Given the description of an element on the screen output the (x, y) to click on. 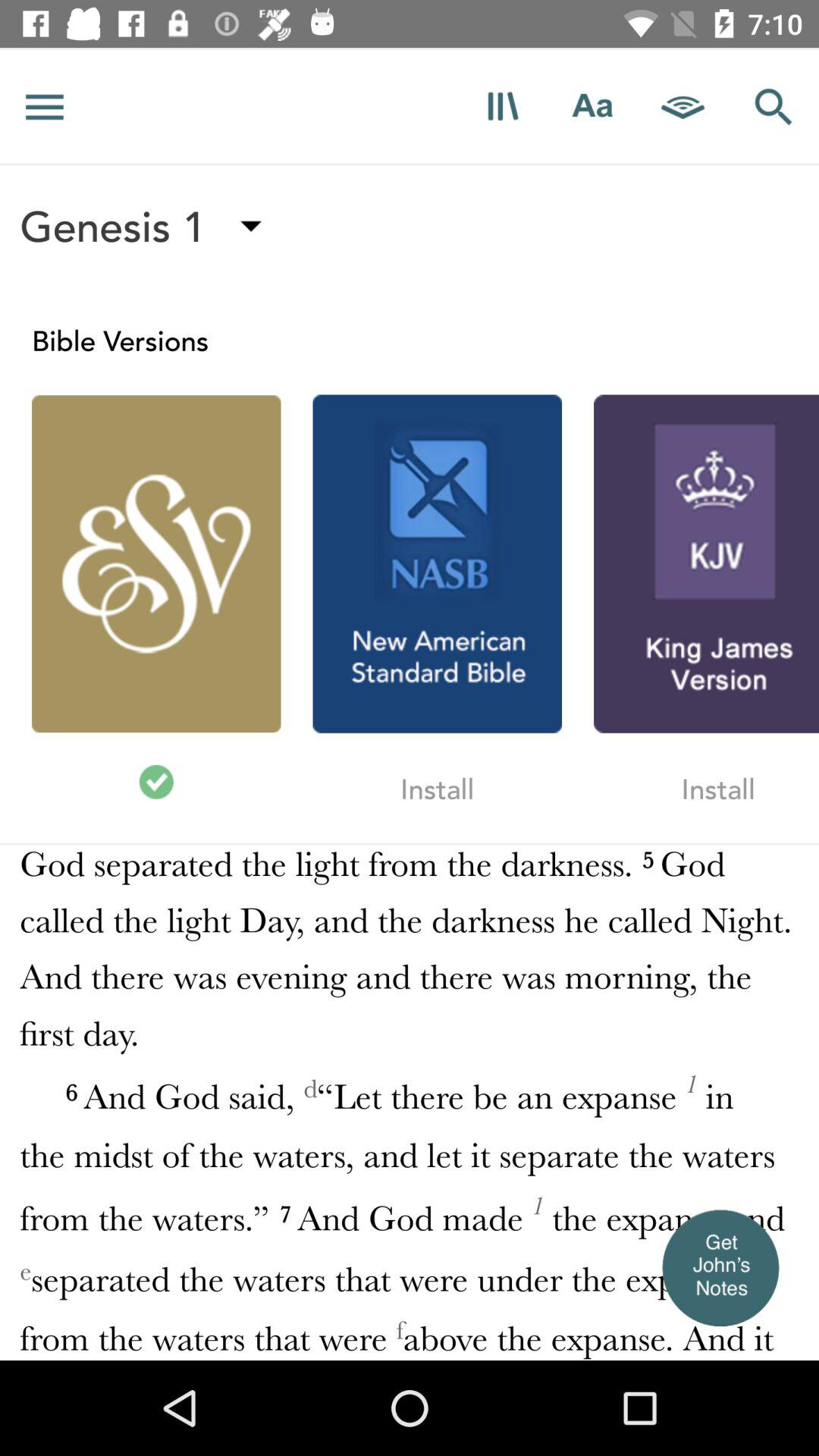
presence of signal (683, 106)
